Given the description of an element on the screen output the (x, y) to click on. 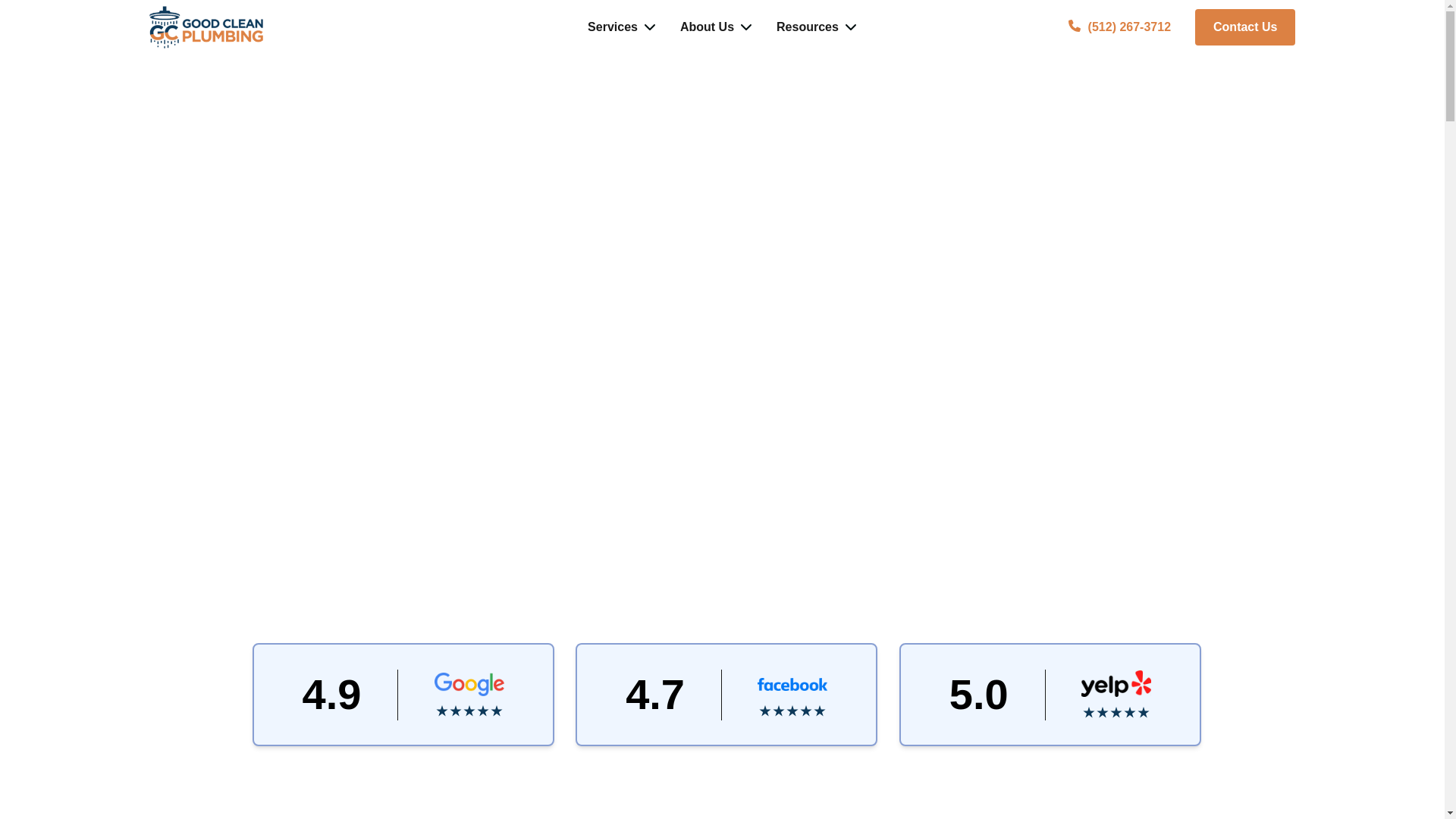
Services (622, 27)
Contact Us (1245, 27)
